Given the description of an element on the screen output the (x, y) to click on. 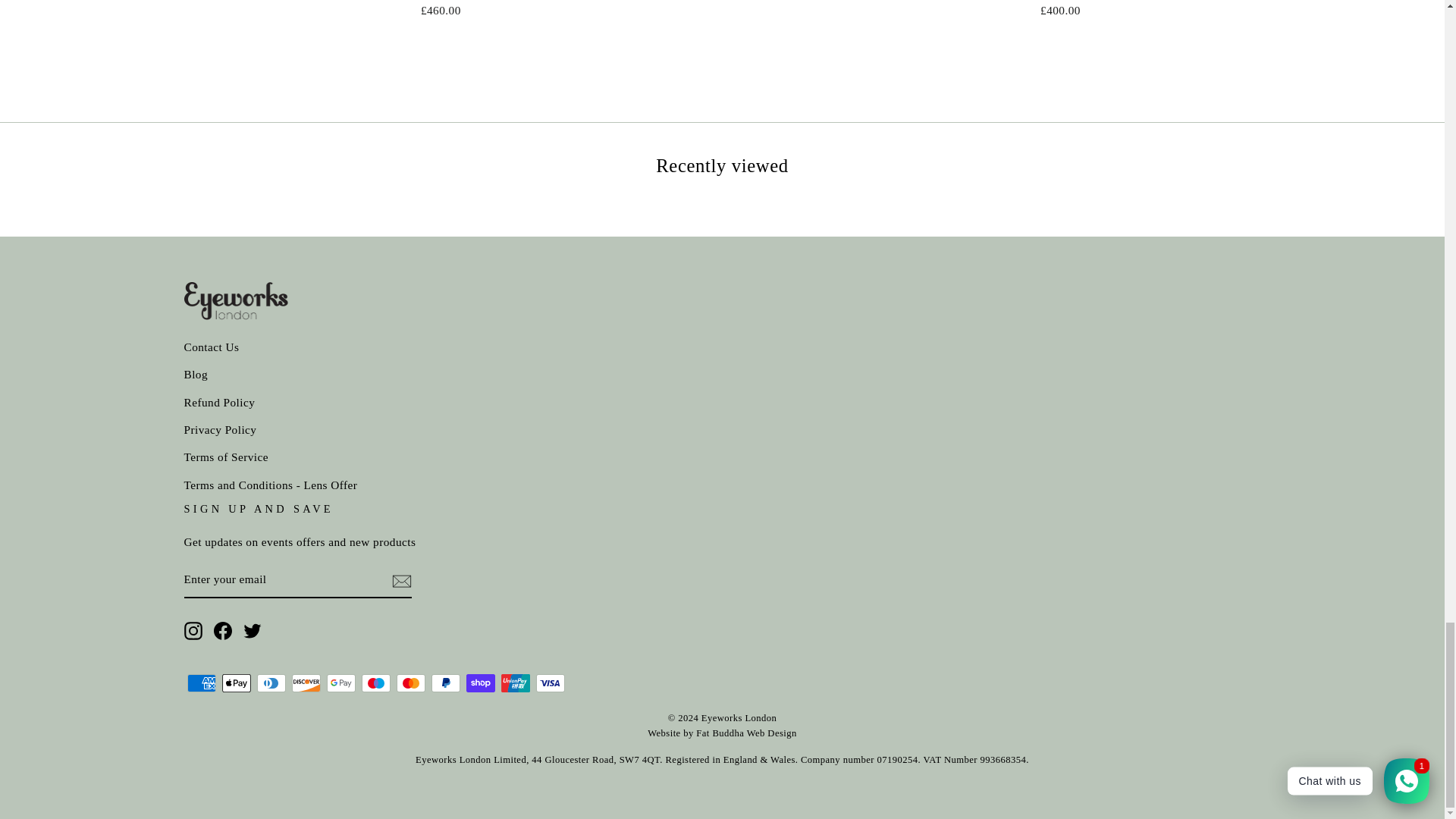
Eyeworks London on Twitter (251, 629)
American Express (200, 683)
Apple Pay (235, 683)
Eyeworks London on Instagram (192, 629)
Discover (305, 683)
Diners Club (270, 683)
Eyeworks London on Facebook (222, 629)
Google Pay (340, 683)
